Given the description of an element on the screen output the (x, y) to click on. 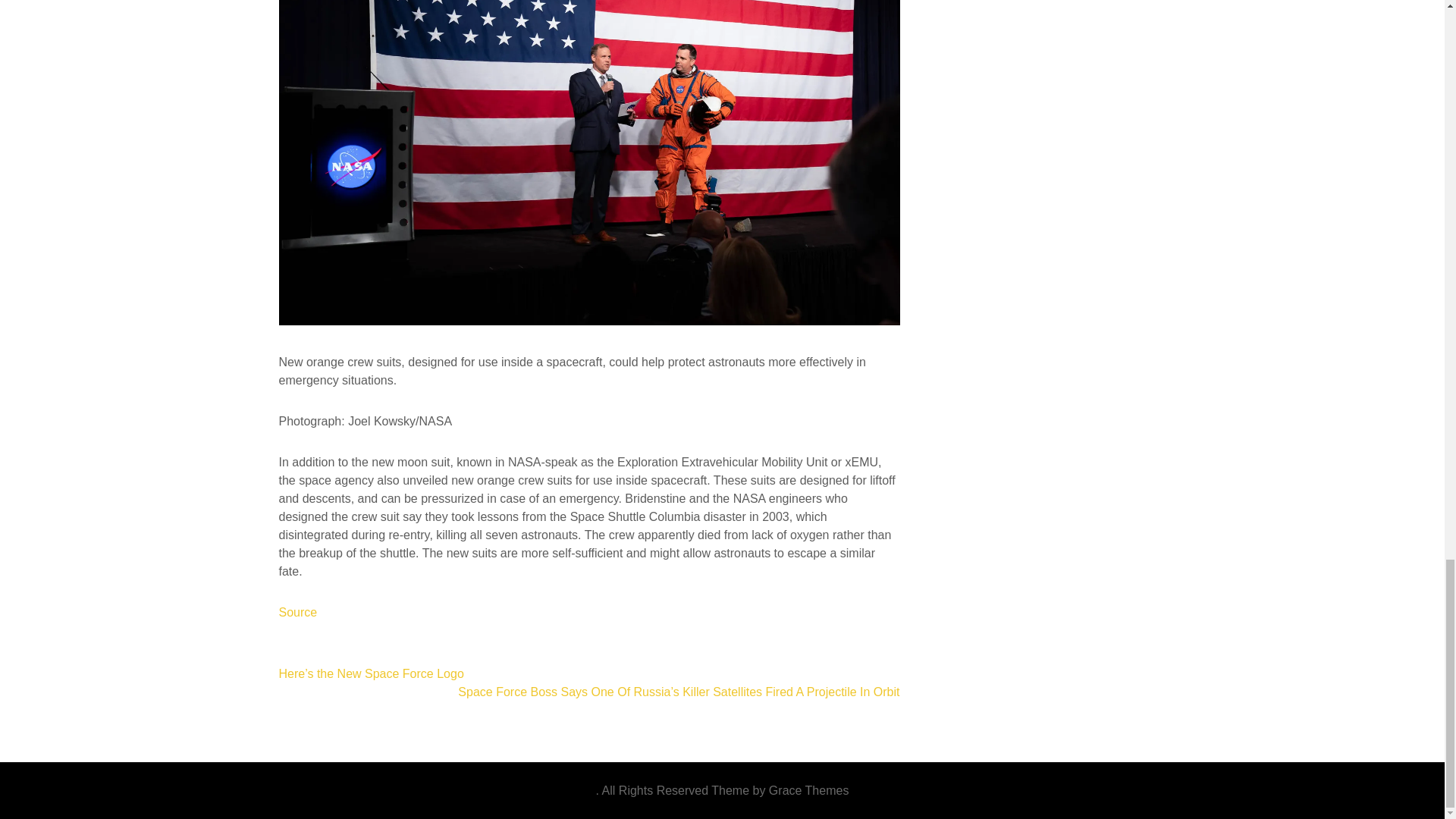
Source (298, 612)
